Given the description of an element on the screen output the (x, y) to click on. 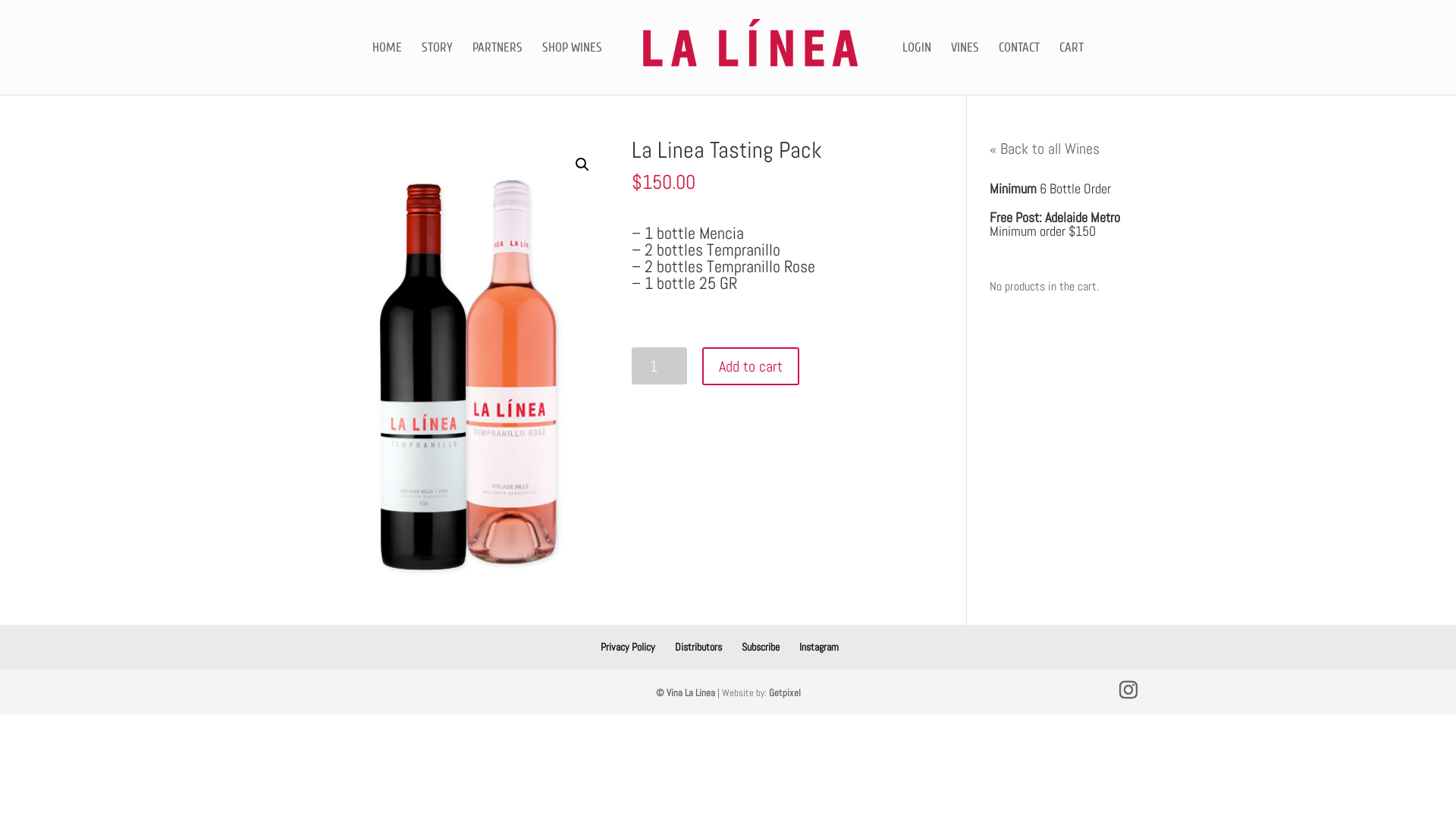
lalinra mixed case Element type: hover (463, 372)
CART Element type: text (1071, 68)
Getpixel Element type: text (784, 692)
LOGIN Element type: text (916, 68)
Privacy Policy Element type: text (627, 646)
SHOP WINES Element type: text (572, 68)
HOME Element type: text (386, 68)
Subscribe Element type: text (760, 646)
VINES Element type: text (964, 68)
Add to cart Element type: text (750, 366)
Instagram Element type: text (818, 646)
PARTNERS Element type: text (497, 68)
CONTACT Element type: text (1018, 68)
Qty Element type: hover (659, 365)
STORY Element type: text (436, 68)
Distributors Element type: text (697, 646)
